Given the description of an element on the screen output the (x, y) to click on. 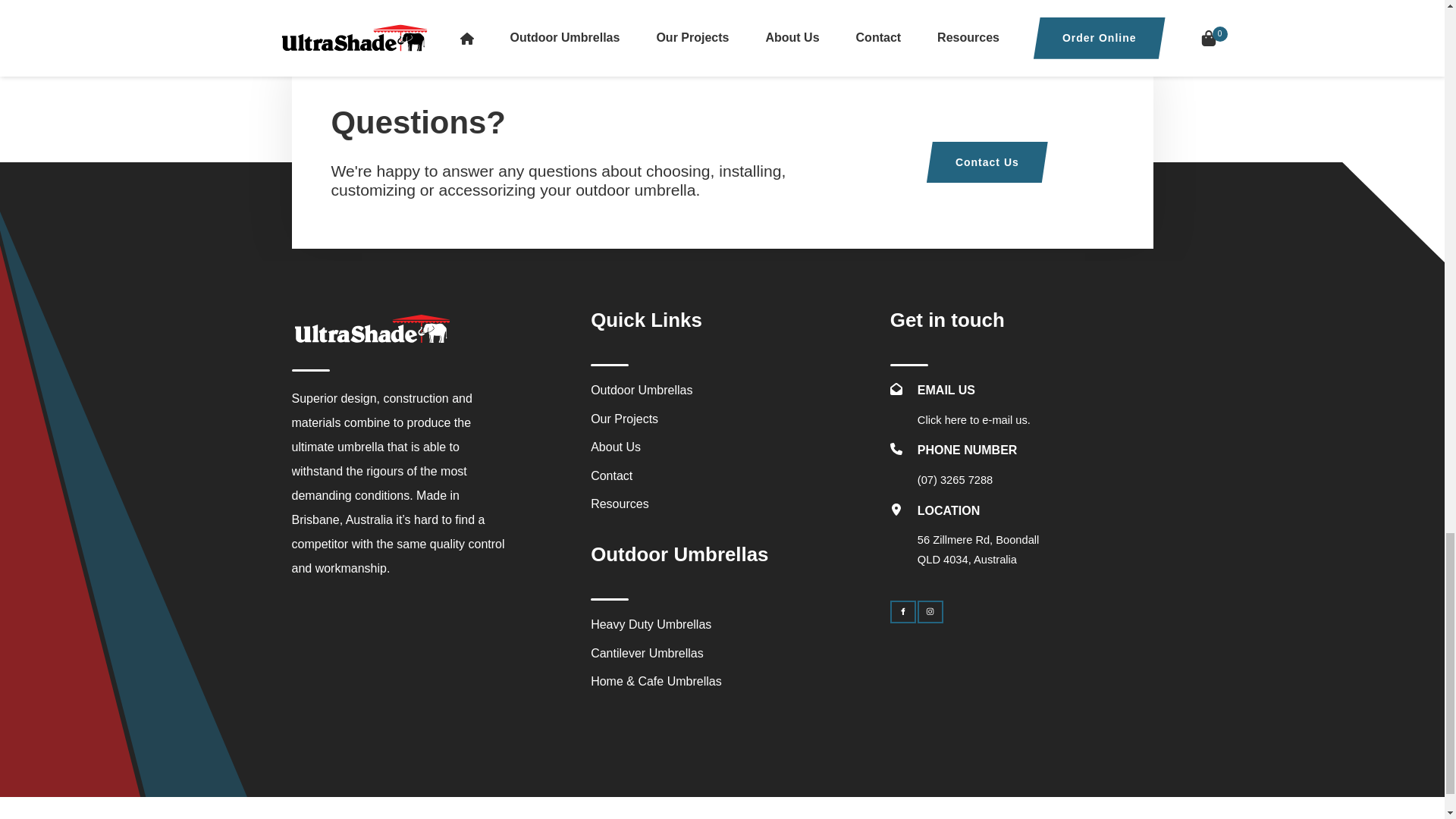
Facebook (902, 611)
Contact Us (987, 162)
Contact (611, 475)
Cantilever Umbrellas (647, 653)
Instagram (930, 611)
Heavy Duty Umbrellas (651, 624)
Our Projects (624, 418)
About Us (615, 446)
Click here to e-mail us. (973, 418)
Resources (619, 503)
Outdoor Umbrellas (642, 390)
